Given the description of an element on the screen output the (x, y) to click on. 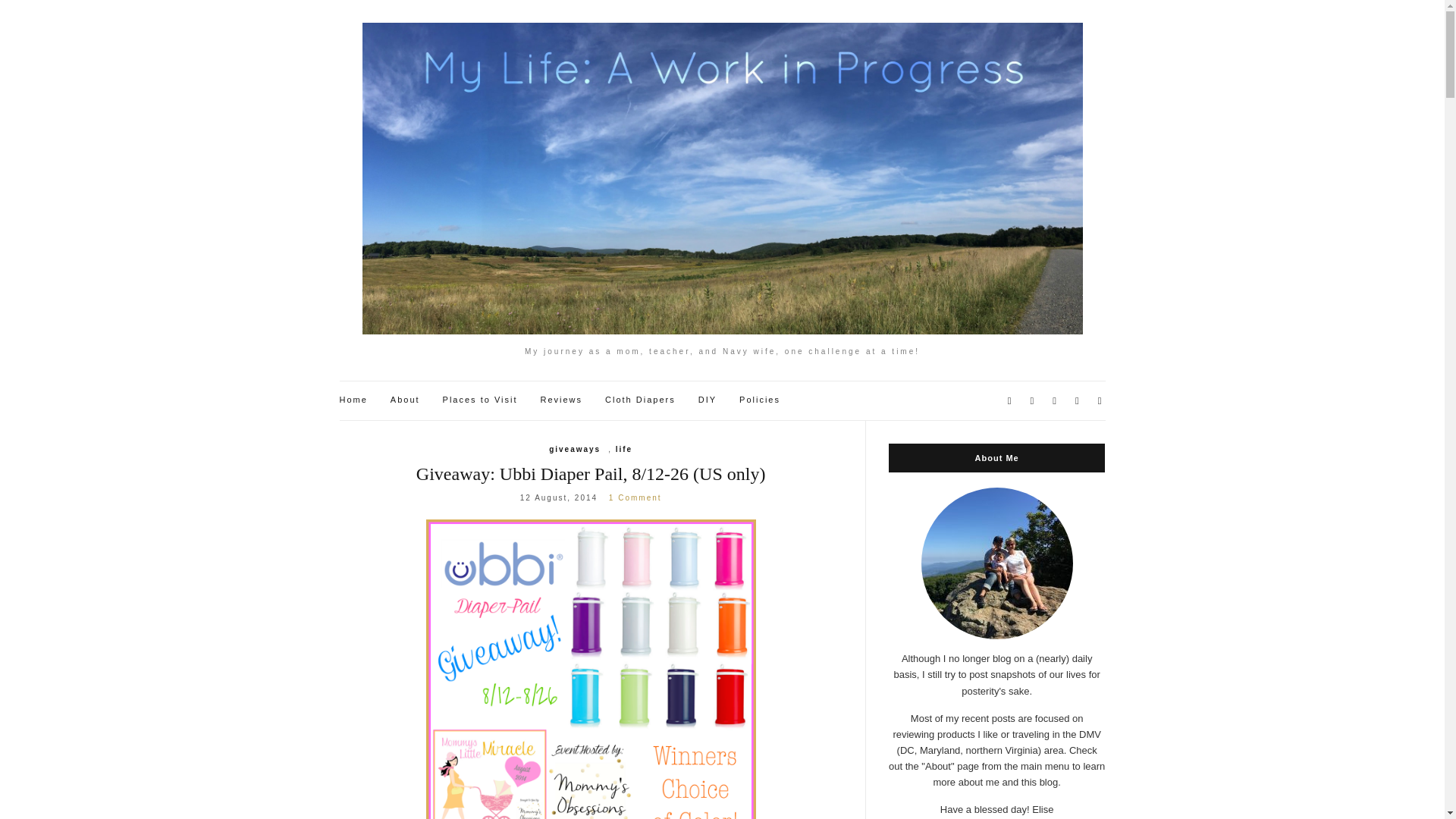
Cloth Diapers (640, 400)
DIY (707, 400)
Policies (759, 400)
Home (353, 400)
1 Comment (635, 497)
Places to Visit (480, 400)
About (405, 400)
Reviews (561, 400)
life (623, 449)
giveaways (573, 449)
